Given the description of an element on the screen output the (x, y) to click on. 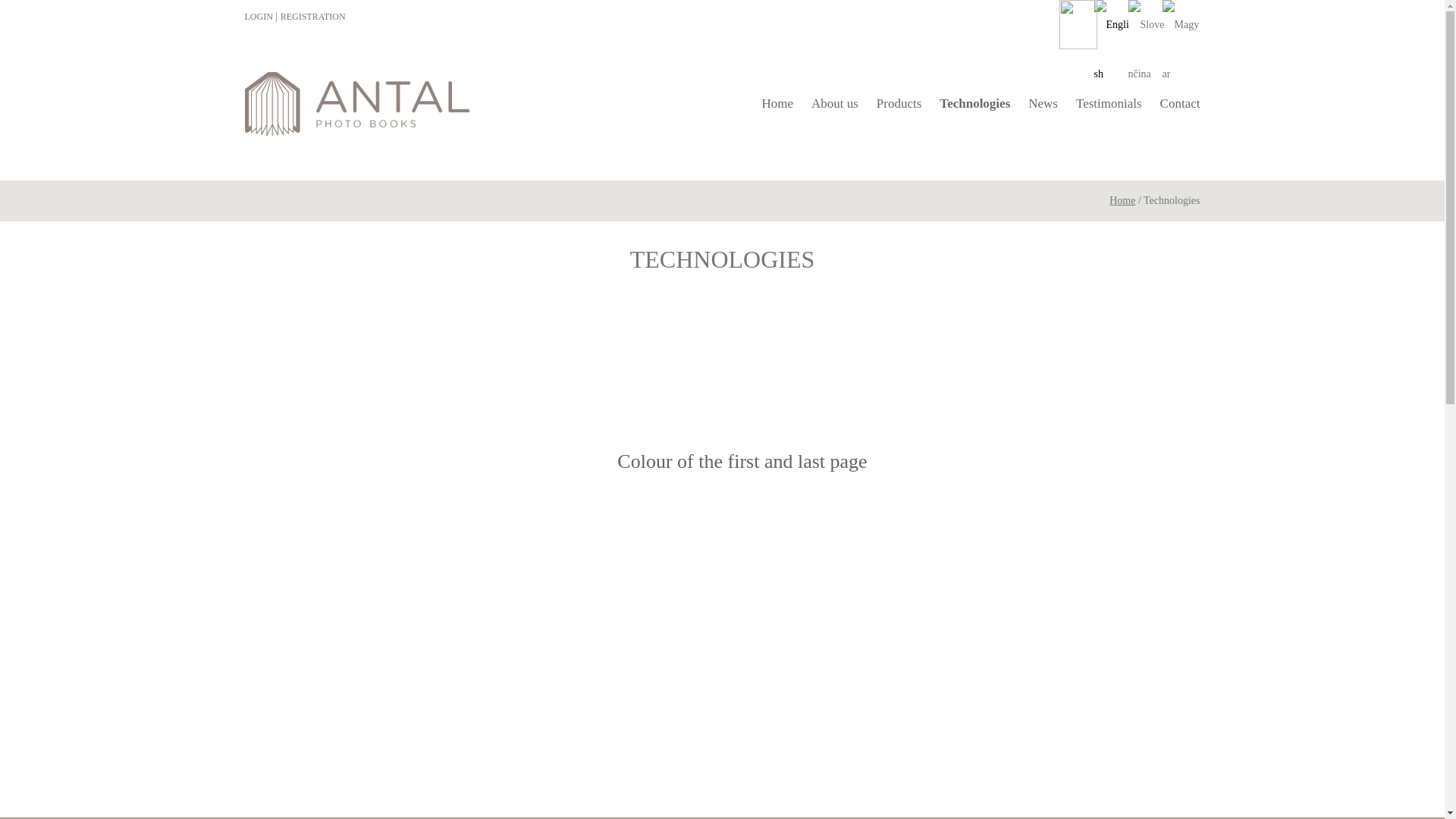
REGISTRATION (313, 16)
Home (777, 104)
LOGIN (258, 16)
News (1042, 104)
Contact (1177, 104)
Testimonials (1109, 104)
Technologies (974, 104)
Antal Photo Books (356, 106)
Products (899, 104)
About us (834, 104)
